Given the description of an element on the screen output the (x, y) to click on. 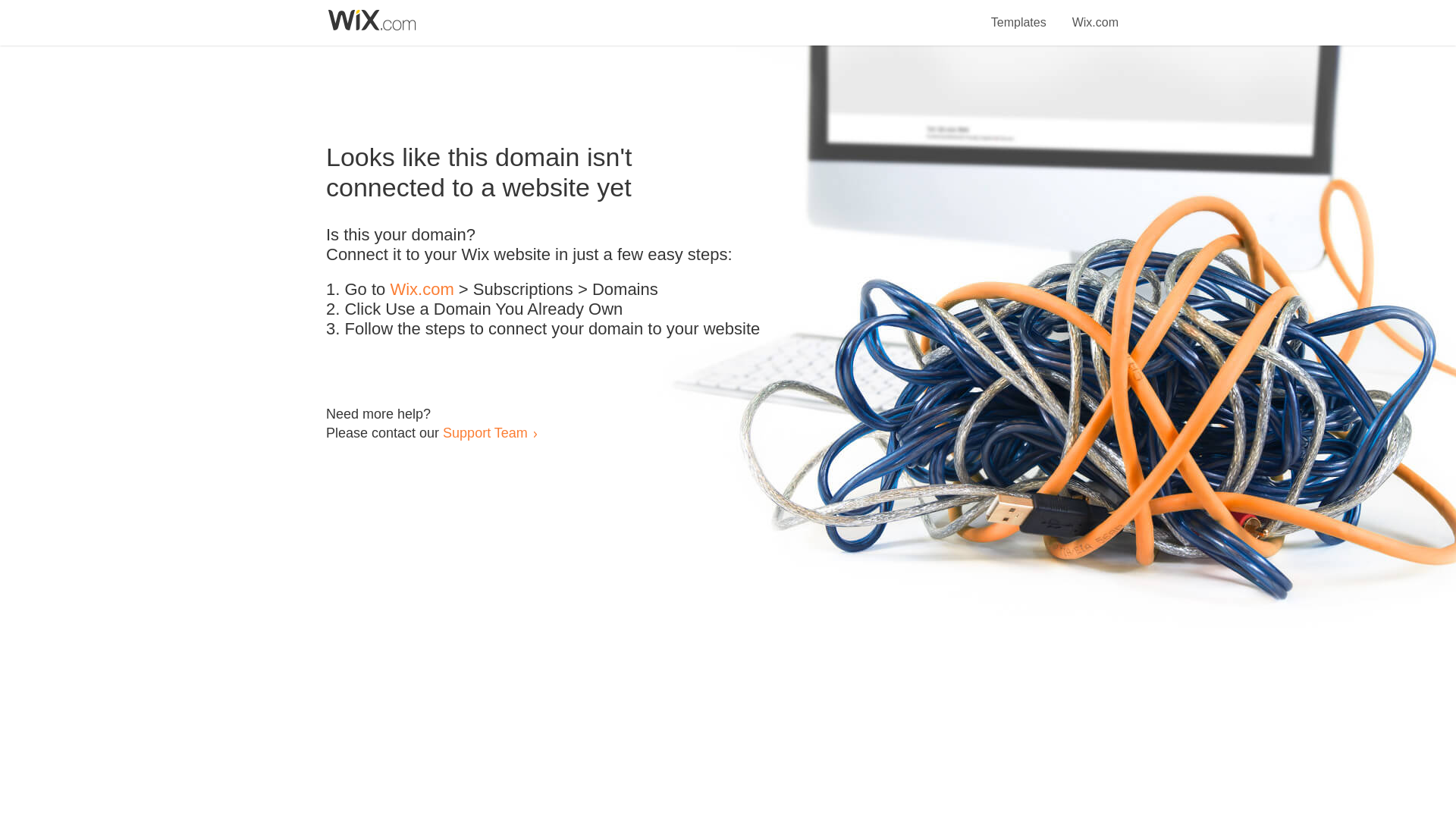
Support Team (484, 432)
Templates (1018, 14)
Wix.com (421, 289)
Wix.com (1095, 14)
